Given the description of an element on the screen output the (x, y) to click on. 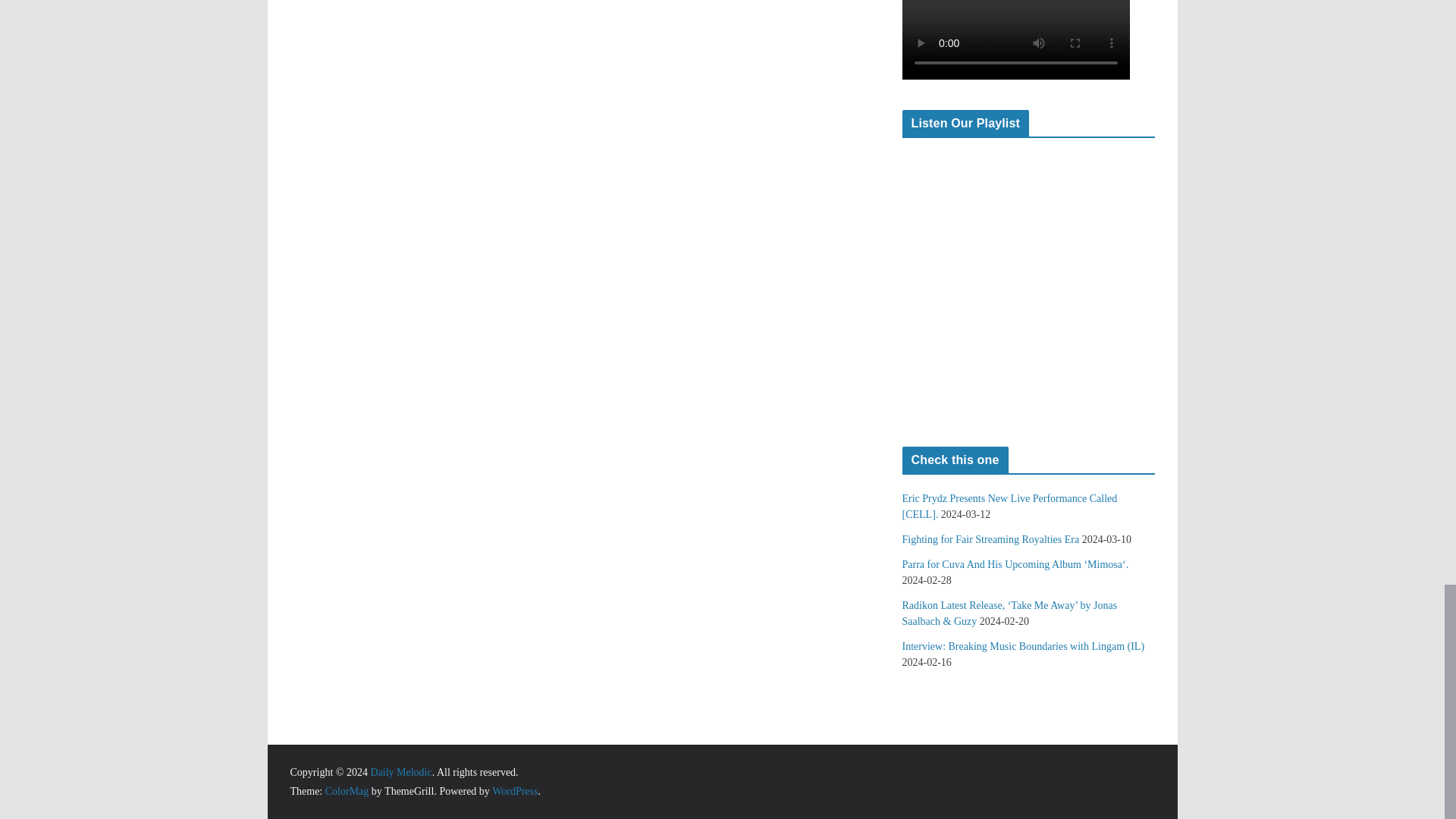
ColorMag (346, 790)
WordPress (514, 790)
Daily Melodic (399, 772)
